Given the description of an element on the screen output the (x, y) to click on. 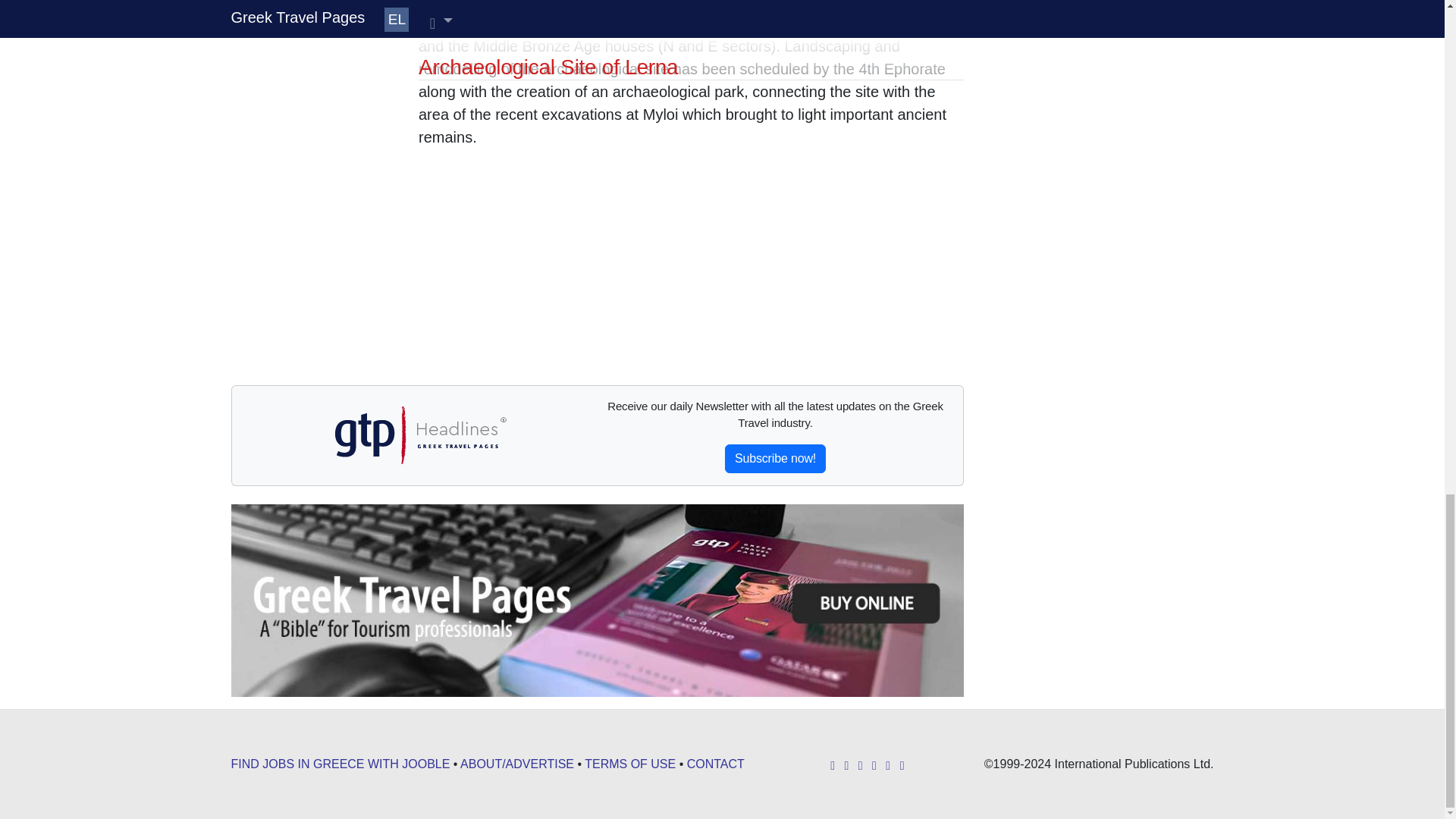
GTP Headlines (418, 434)
